Given the description of an element on the screen output the (x, y) to click on. 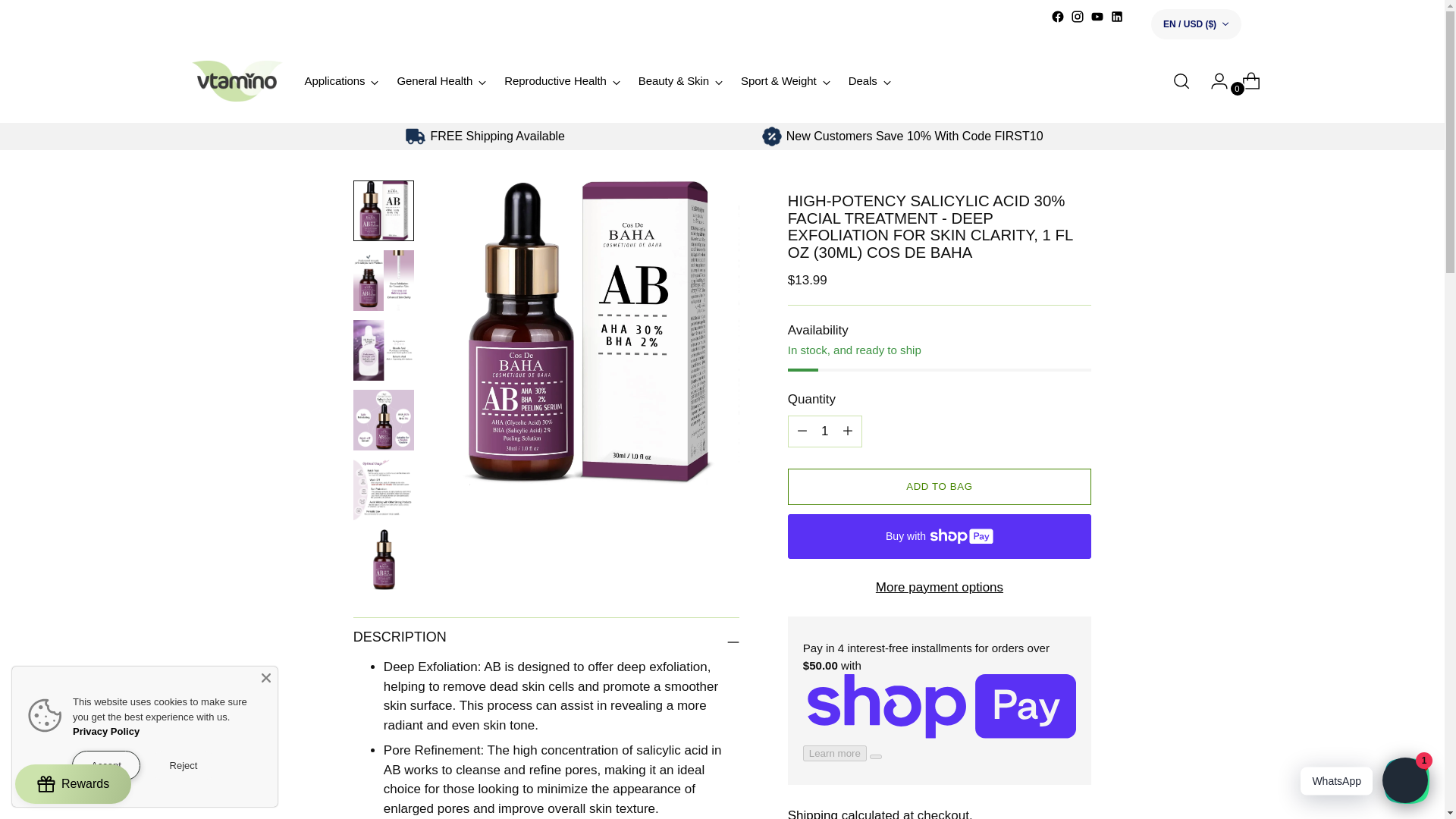
Reproductive Health (561, 80)
Privacy Policy (105, 731)
Applications (341, 80)
General Health (441, 80)
vtamino on Instagram (1077, 16)
1 (824, 431)
vtamino on YouTube (1096, 16)
vtamino on LinkedIn (1116, 16)
Shopify online store chat (1404, 781)
vtamino on Facebook (1057, 16)
